Given the description of an element on the screen output the (x, y) to click on. 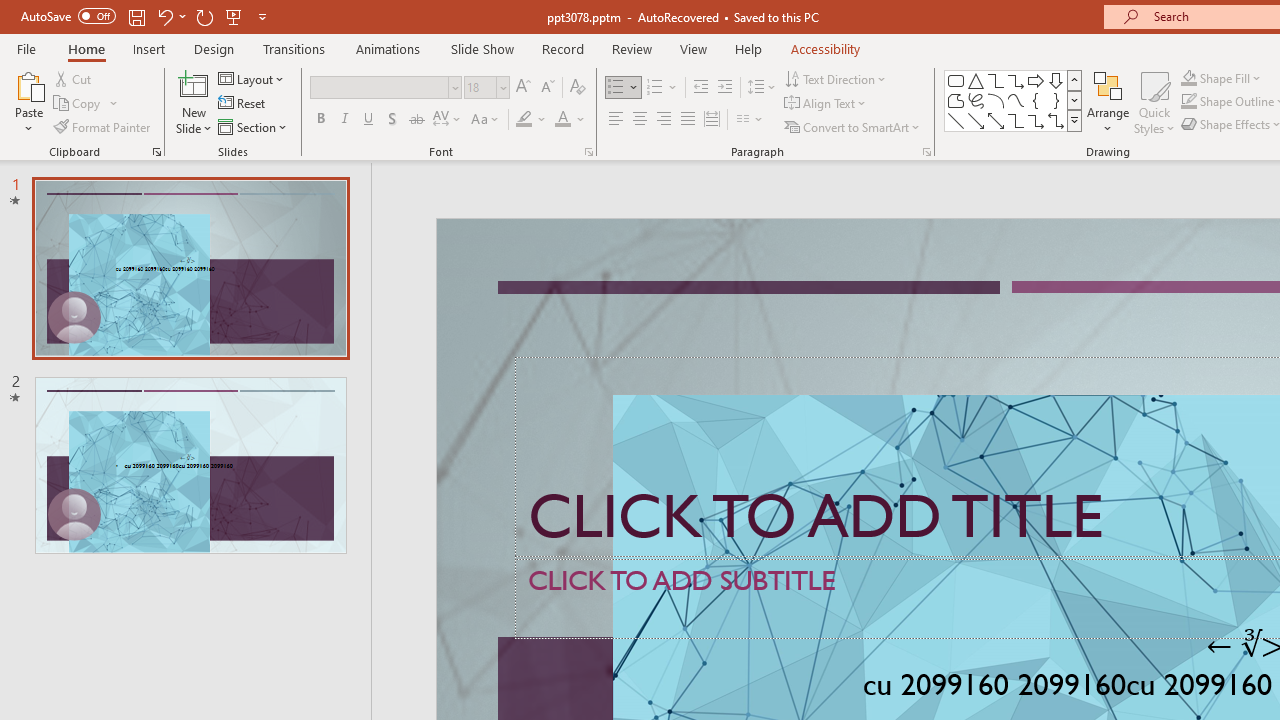
Connector: Elbow Double-Arrow (1055, 120)
